Given the description of an element on the screen output the (x, y) to click on. 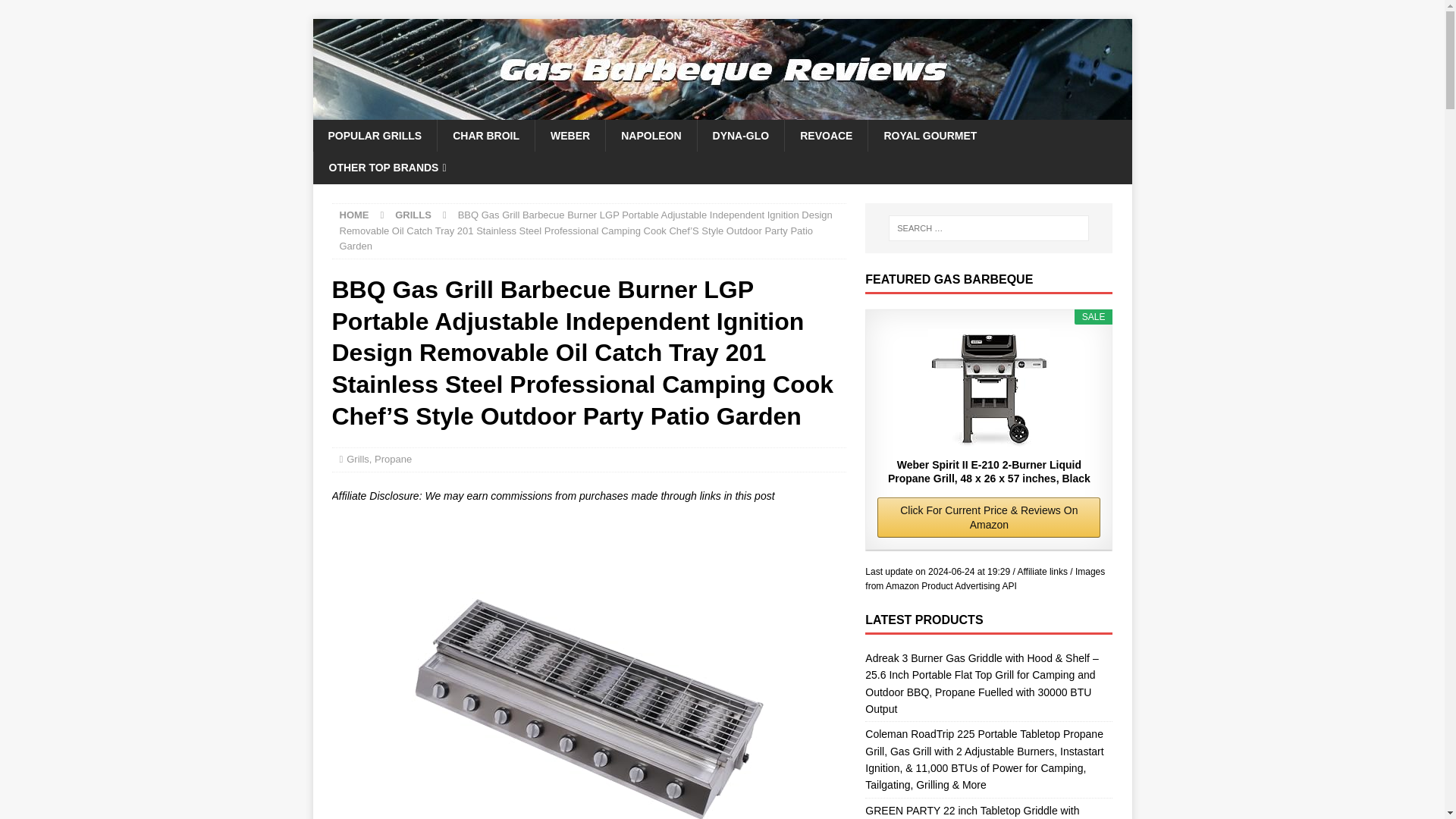
DYNA-GLO (740, 135)
POPULAR GRILLS (374, 135)
CHAR BROIL (485, 135)
Grills Propane  Gas Grills (588, 669)
WEBER (569, 135)
Gas Barbeque Reviews (722, 111)
NAPOLEON (650, 135)
